Given the description of an element on the screen output the (x, y) to click on. 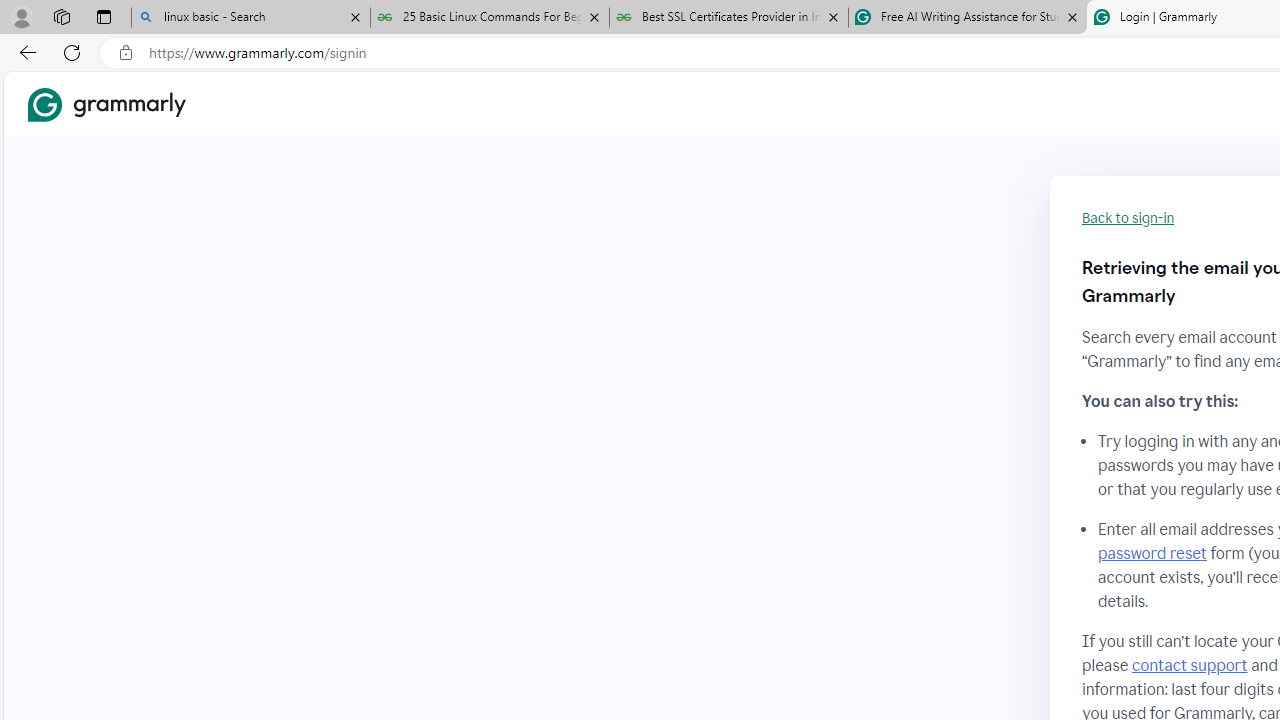
password reset (1152, 553)
contact support (1189, 665)
Back to sign-in (1128, 218)
linux basic - Search (250, 17)
Best SSL Certificates Provider in India - GeeksforGeeks (729, 17)
Grammarly Home (106, 103)
Grammarly Home (106, 104)
Free AI Writing Assistance for Students | Grammarly (967, 17)
25 Basic Linux Commands For Beginners - GeeksforGeeks (490, 17)
